Given the description of an element on the screen output the (x, y) to click on. 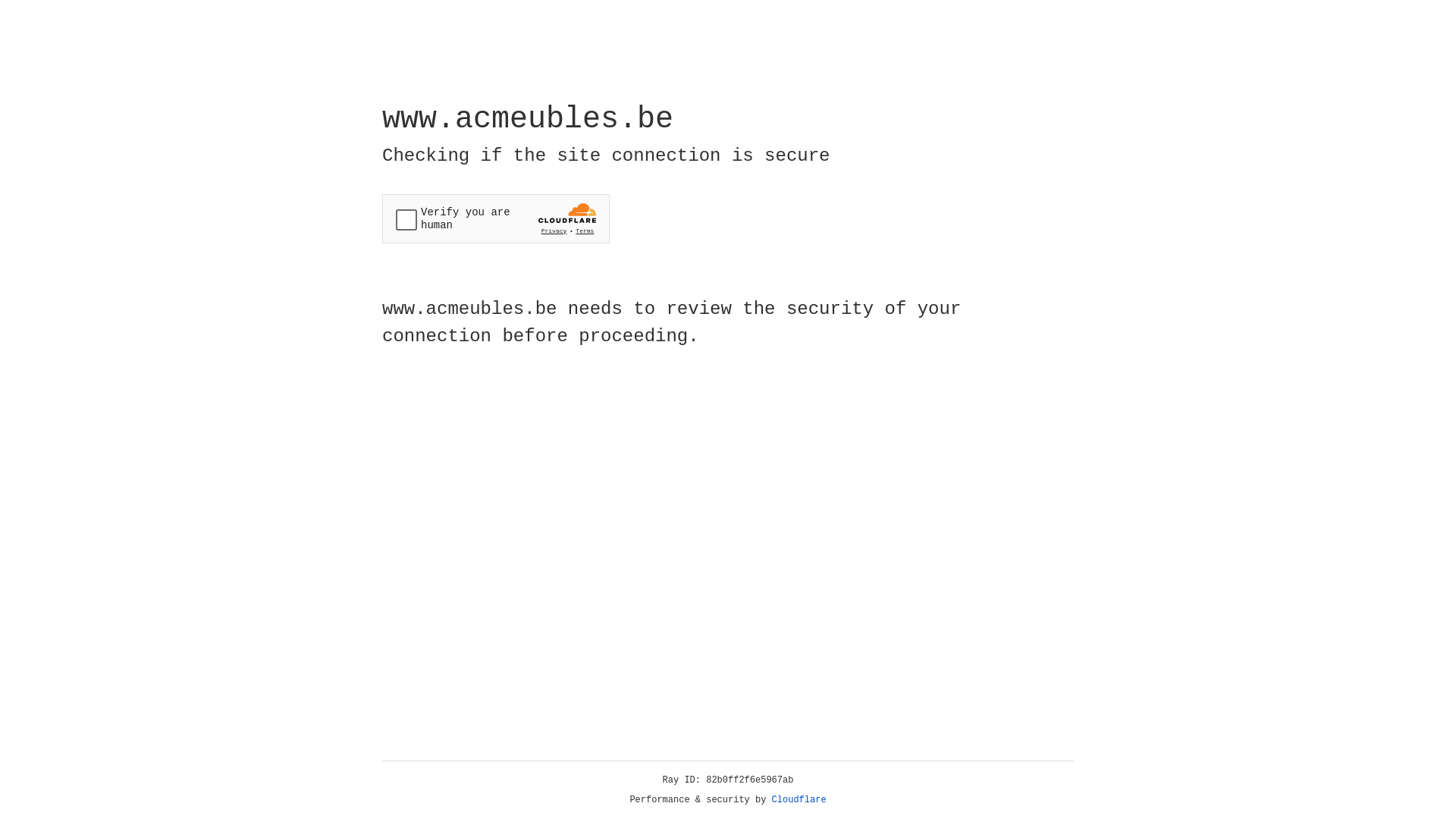
Cloudflare Element type: text (798, 799)
Widget containing a Cloudflare security challenge Element type: hover (495, 218)
